Given the description of an element on the screen output the (x, y) to click on. 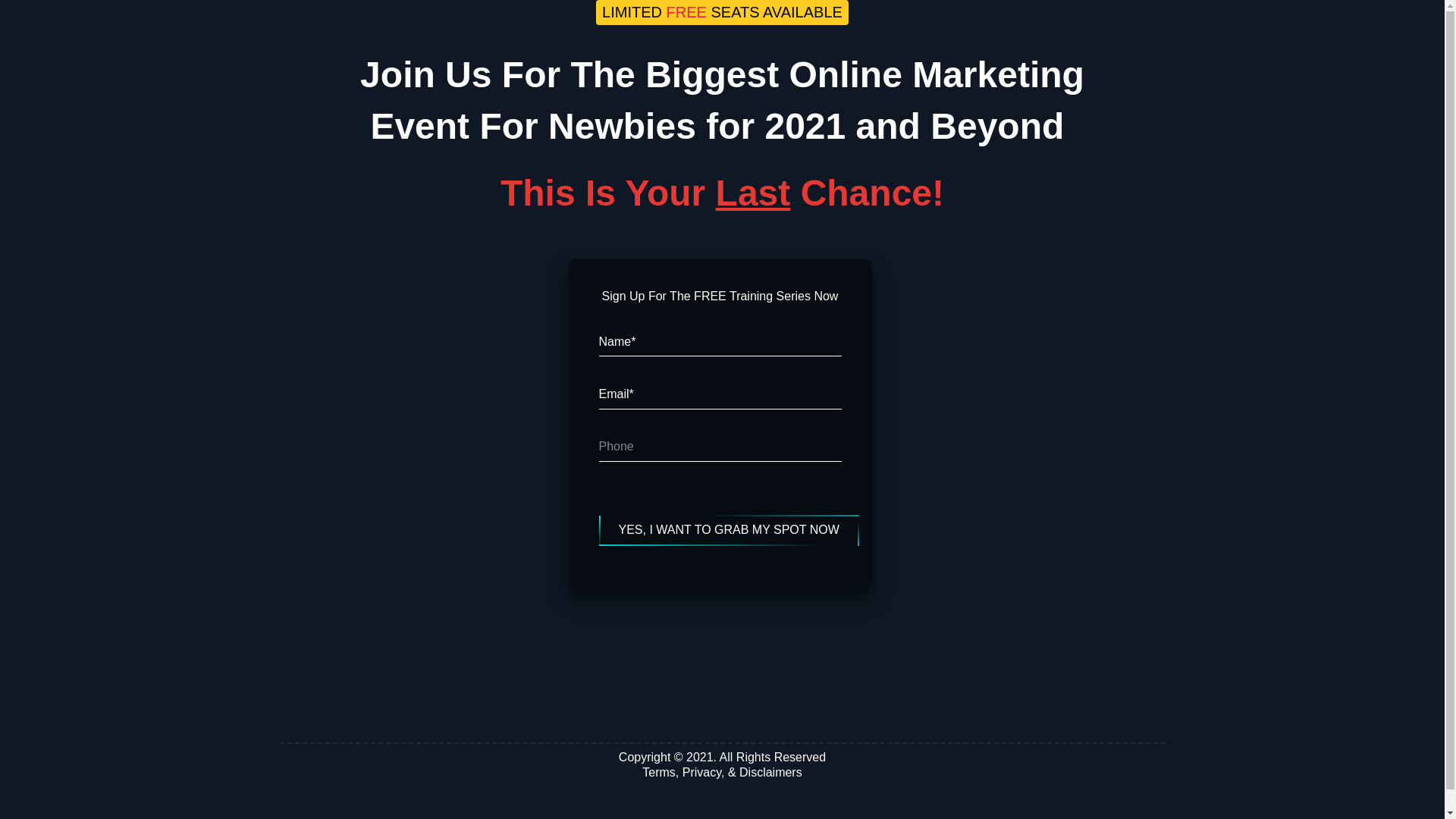
YES, I WANT TO GRAB MY SPOT NOW Element type: text (729, 529)
Terms, Privacy, & Disclaimers Element type: text (721, 771)
